Given the description of an element on the screen output the (x, y) to click on. 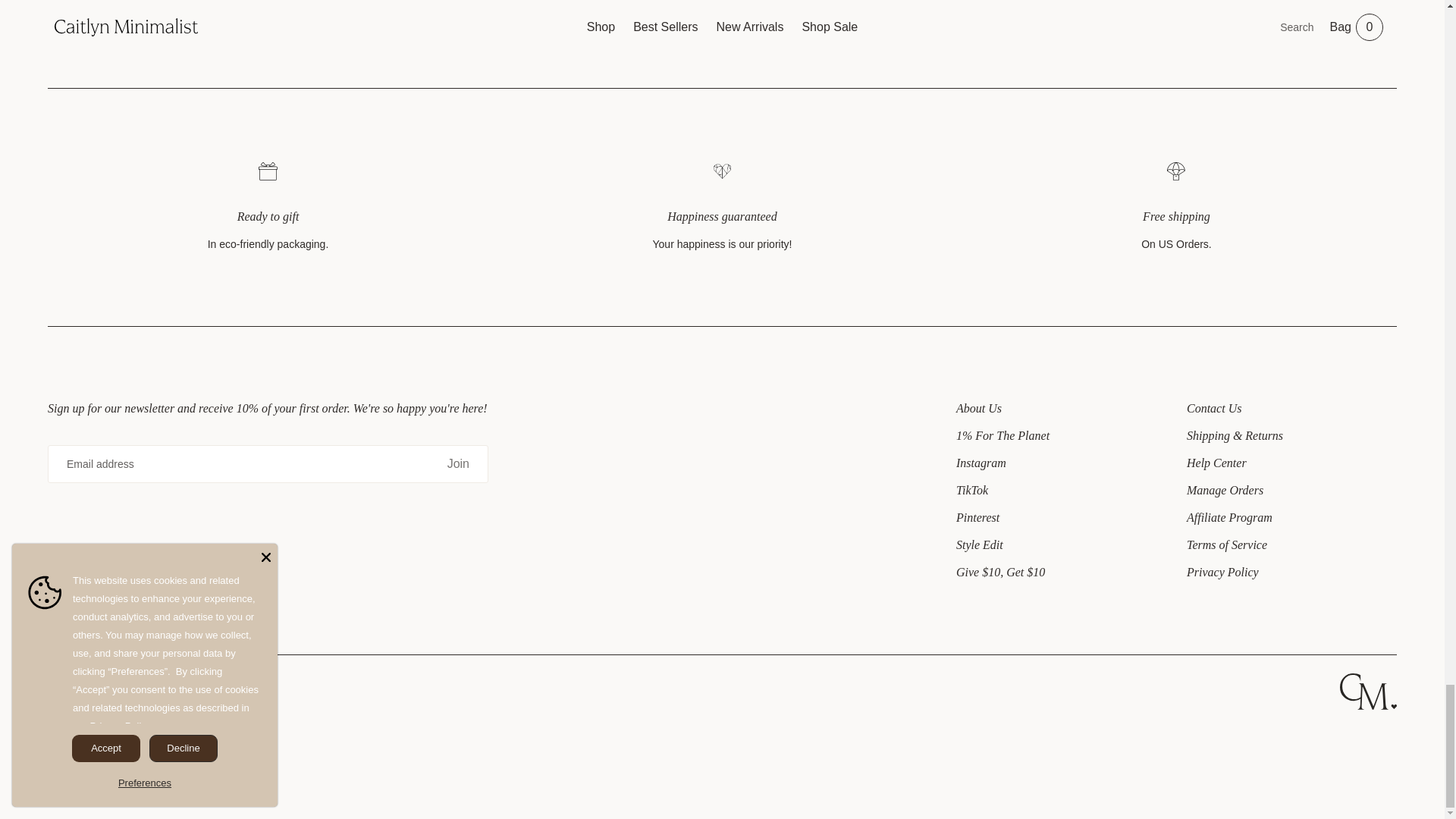
Email (238, 463)
